Given the description of an element on the screen output the (x, y) to click on. 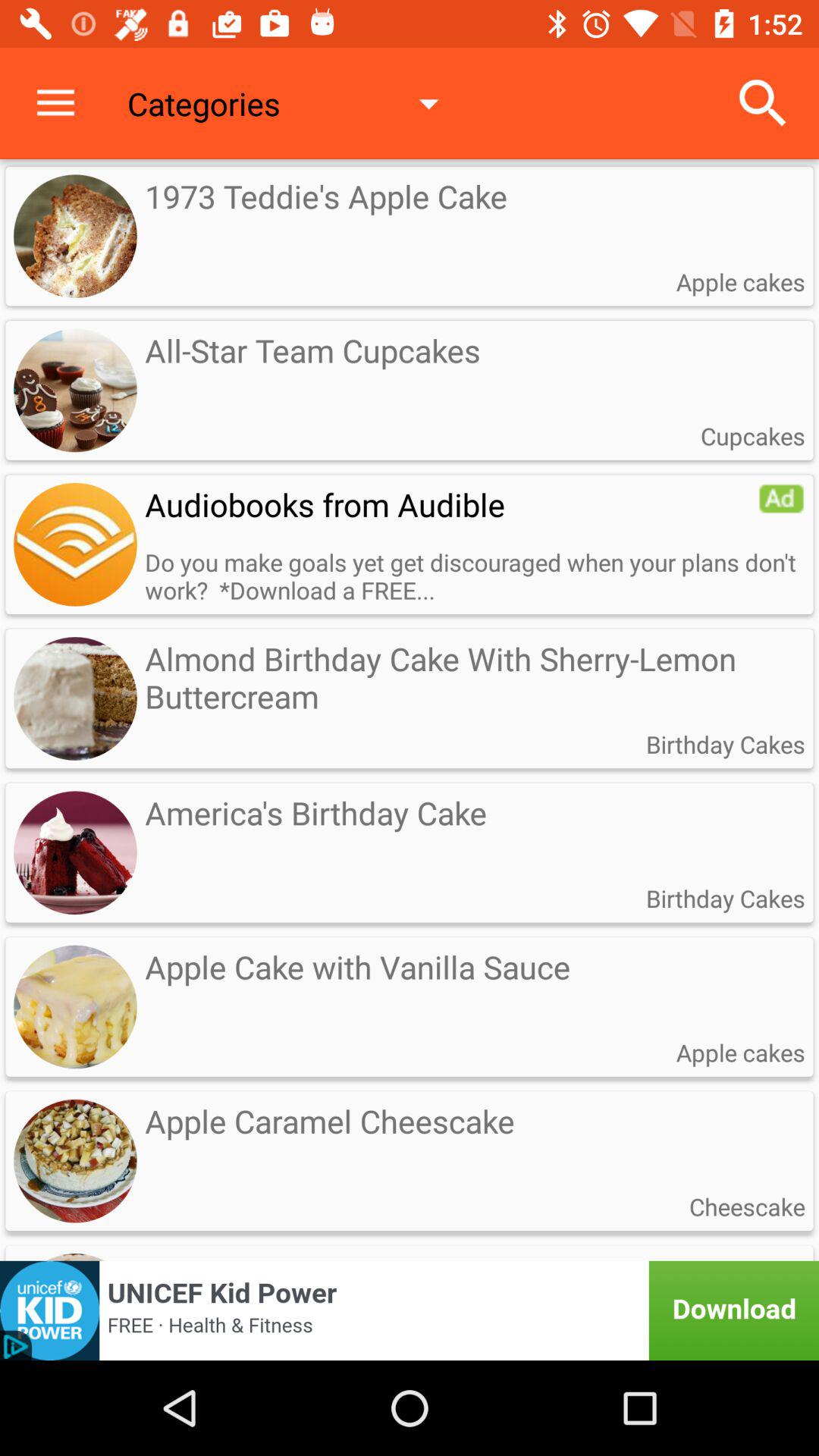
turn off the icon next to categories (55, 103)
